Given the description of an element on the screen output the (x, y) to click on. 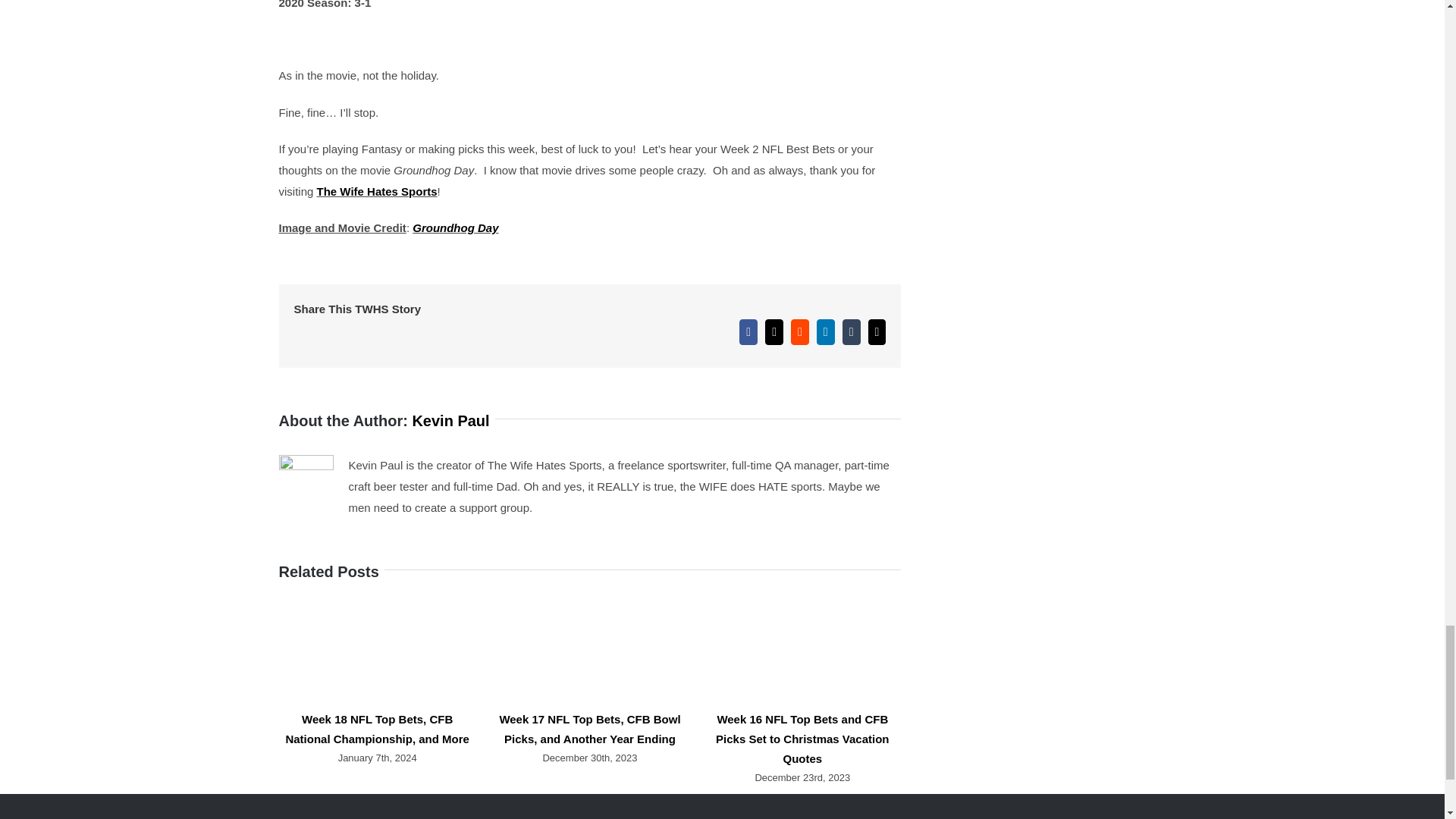
The Wife Hates Sports (377, 191)
Groundhog Day (454, 227)
Posts by Kevin Paul (450, 420)
Week 18 NFL Top Bets, CFB National Championship, and More (376, 728)
Week 18 NFL Top Bets, CFB National Championship, and More (376, 728)
Kevin Paul (450, 420)
